Given the description of an element on the screen output the (x, y) to click on. 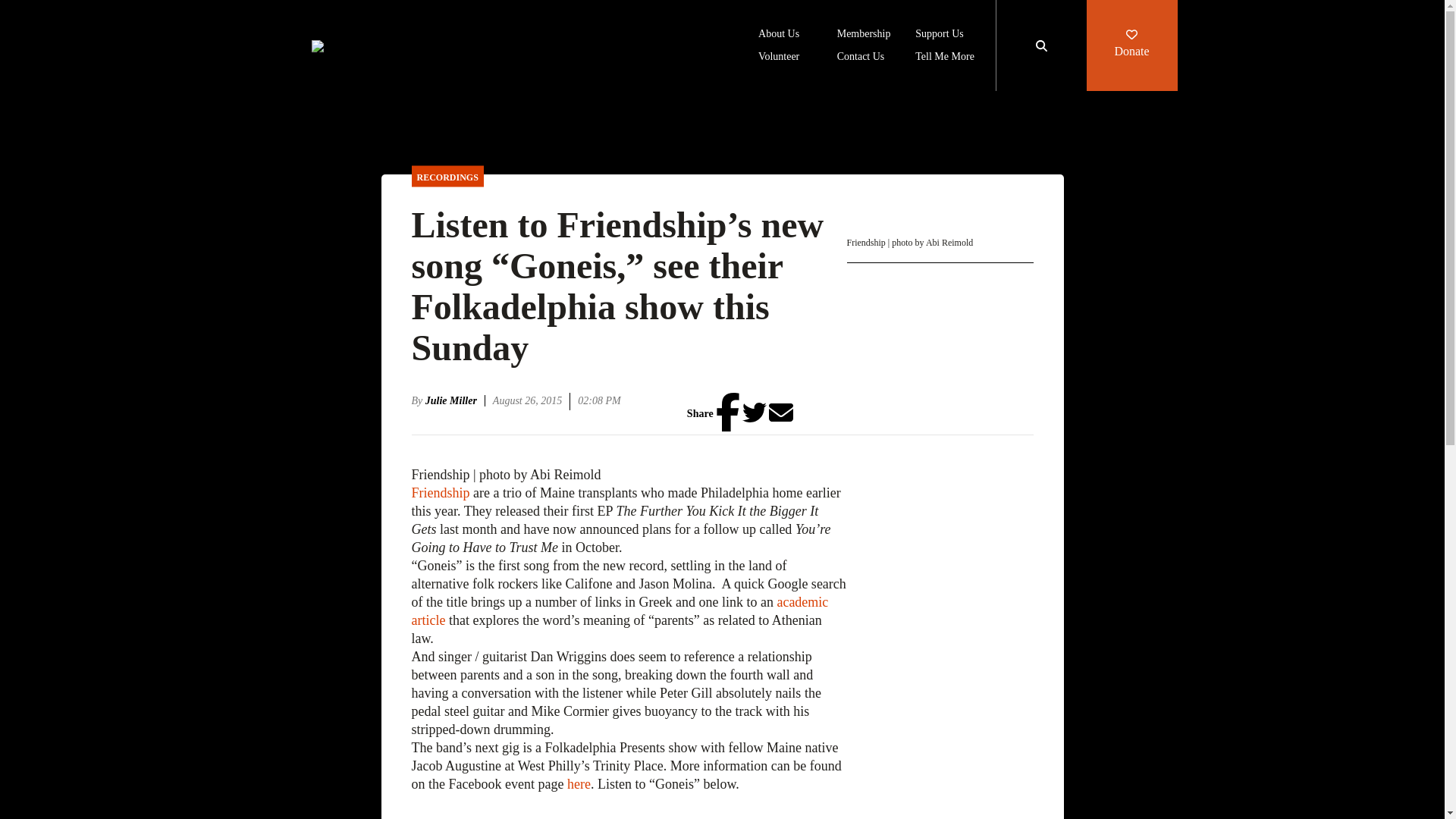
academic article (619, 611)
Julie Miller (454, 400)
here (579, 783)
Friendship (441, 492)
Volunteer (778, 57)
Support Us (938, 35)
Tell Me More (944, 57)
Membership (864, 35)
Contact Us (861, 57)
Donate (1131, 45)
